Given the description of an element on the screen output the (x, y) to click on. 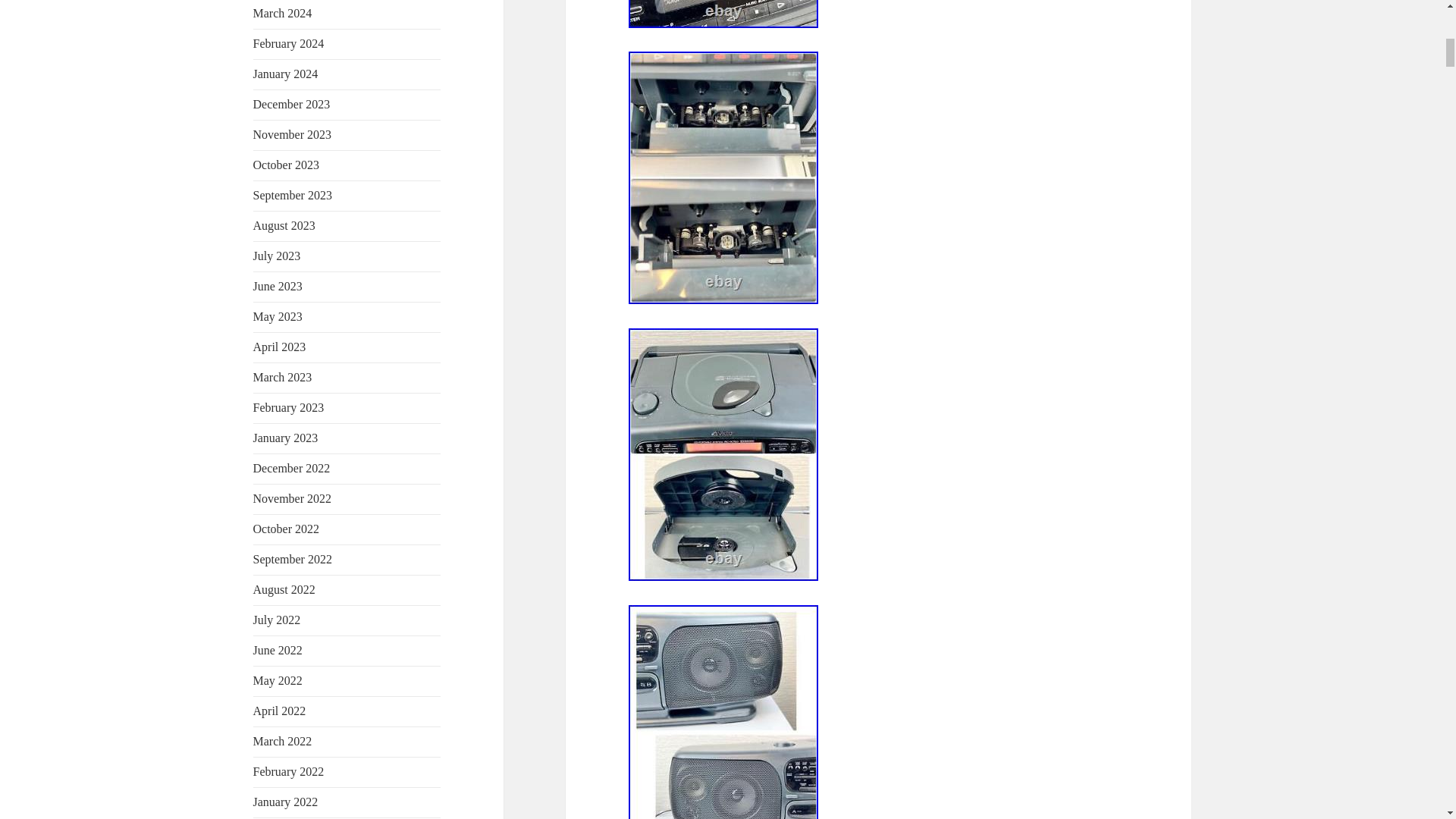
February 2022 (288, 771)
August 2022 (284, 589)
April 2022 (279, 710)
February 2024 (288, 42)
November 2022 (292, 498)
March 2022 (283, 740)
July 2022 (277, 619)
June 2022 (277, 649)
October 2022 (286, 528)
September 2023 (292, 195)
January 2022 (285, 801)
December 2023 (291, 103)
May 2023 (277, 316)
September 2022 (292, 558)
January 2023 (285, 437)
